Given the description of an element on the screen output the (x, y) to click on. 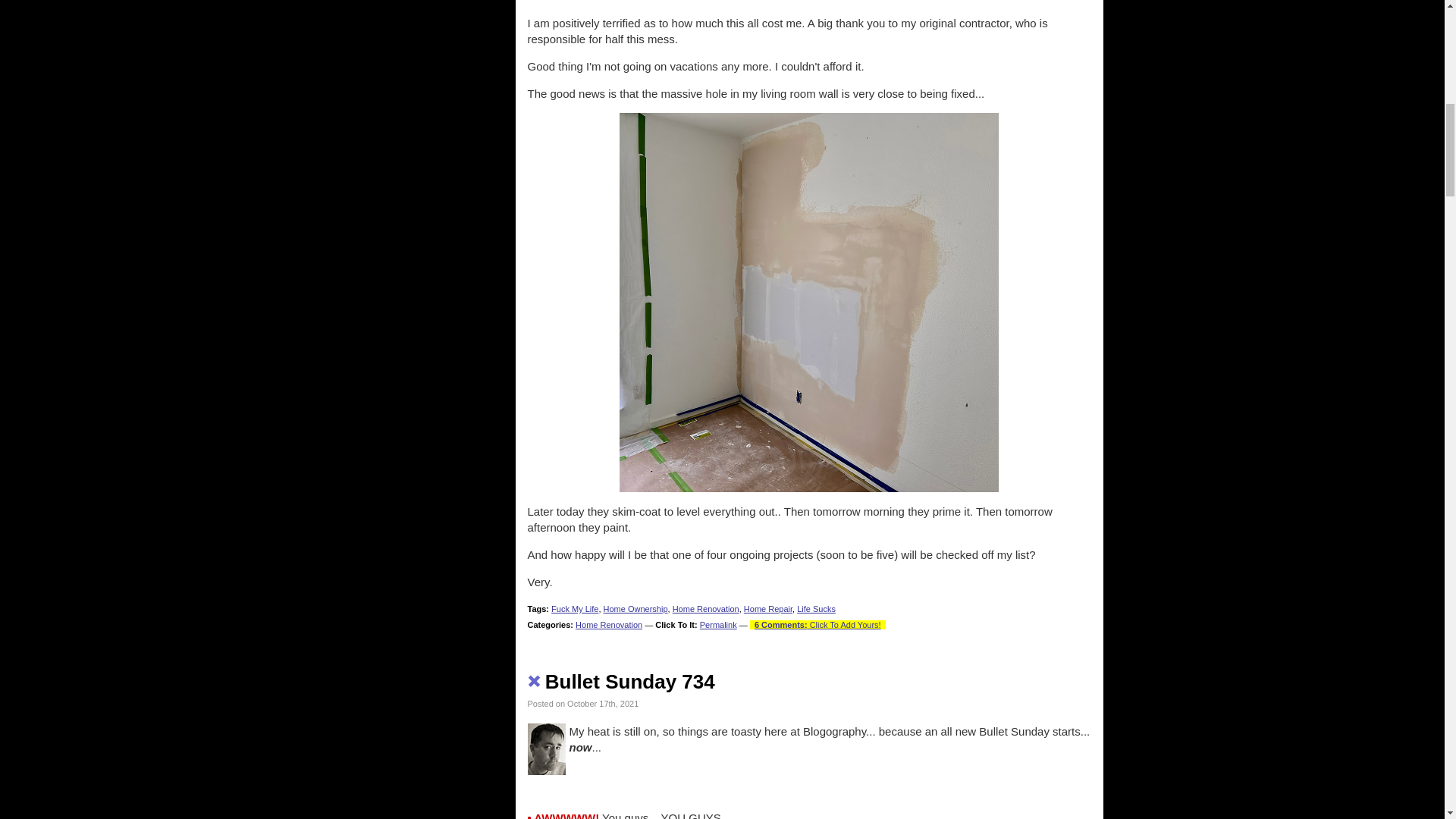
Home Ownership (636, 608)
Home Renovation (705, 608)
Permalink (718, 624)
Fuck My Life (574, 608)
Home Renovation (608, 624)
